Given the description of an element on the screen output the (x, y) to click on. 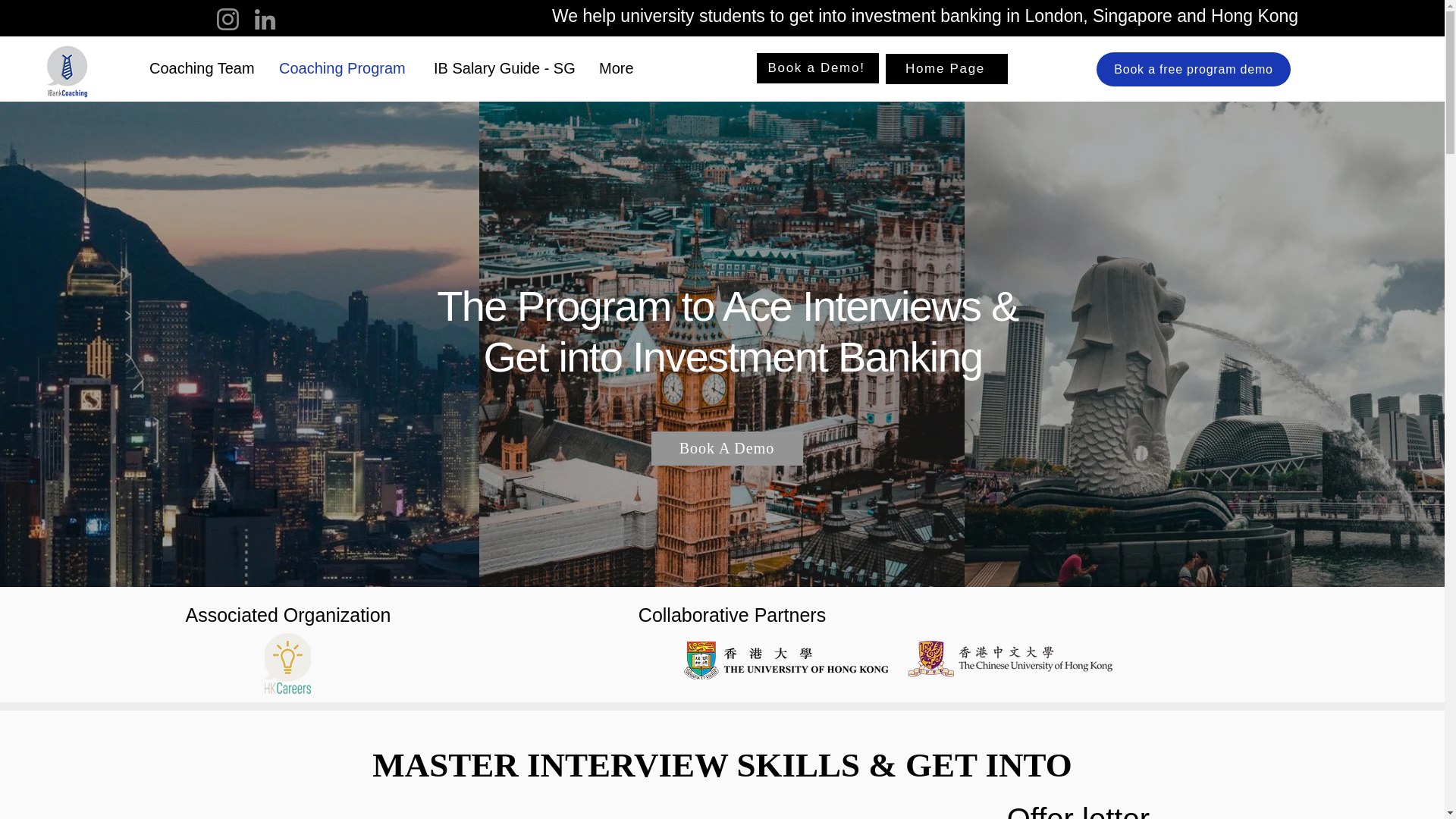
Coaching Program (344, 68)
Book a free program demo (1193, 69)
Coaching Team (202, 68)
IB Salary Guide - SG (505, 68)
Book A Demo (726, 448)
Home Page (946, 69)
Book a Demo! (818, 68)
